Given the description of an element on the screen output the (x, y) to click on. 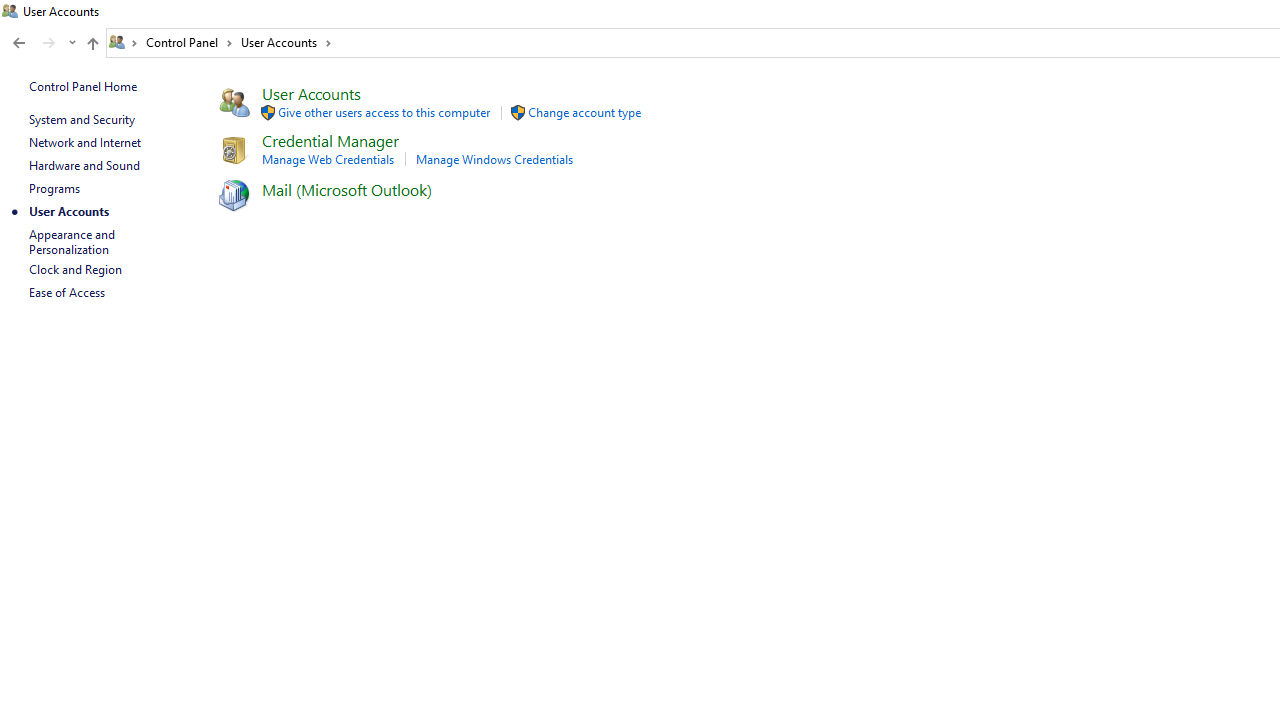
Forward (Alt + Right Arrow) (49, 43)
System and Security (81, 119)
Programs (53, 187)
Up to "Control Panel" (Alt + Up Arrow) (92, 43)
User Accounts (285, 42)
Up band toolbar (92, 46)
Navigation buttons (41, 43)
Network and Internet (84, 142)
System (10, 11)
Change account type (584, 112)
User Accounts (311, 92)
Hardware and Sound (84, 164)
Manage Web Credentials (327, 159)
Control Panel (189, 42)
Give other users access to this computer (383, 112)
